Given the description of an element on the screen output the (x, y) to click on. 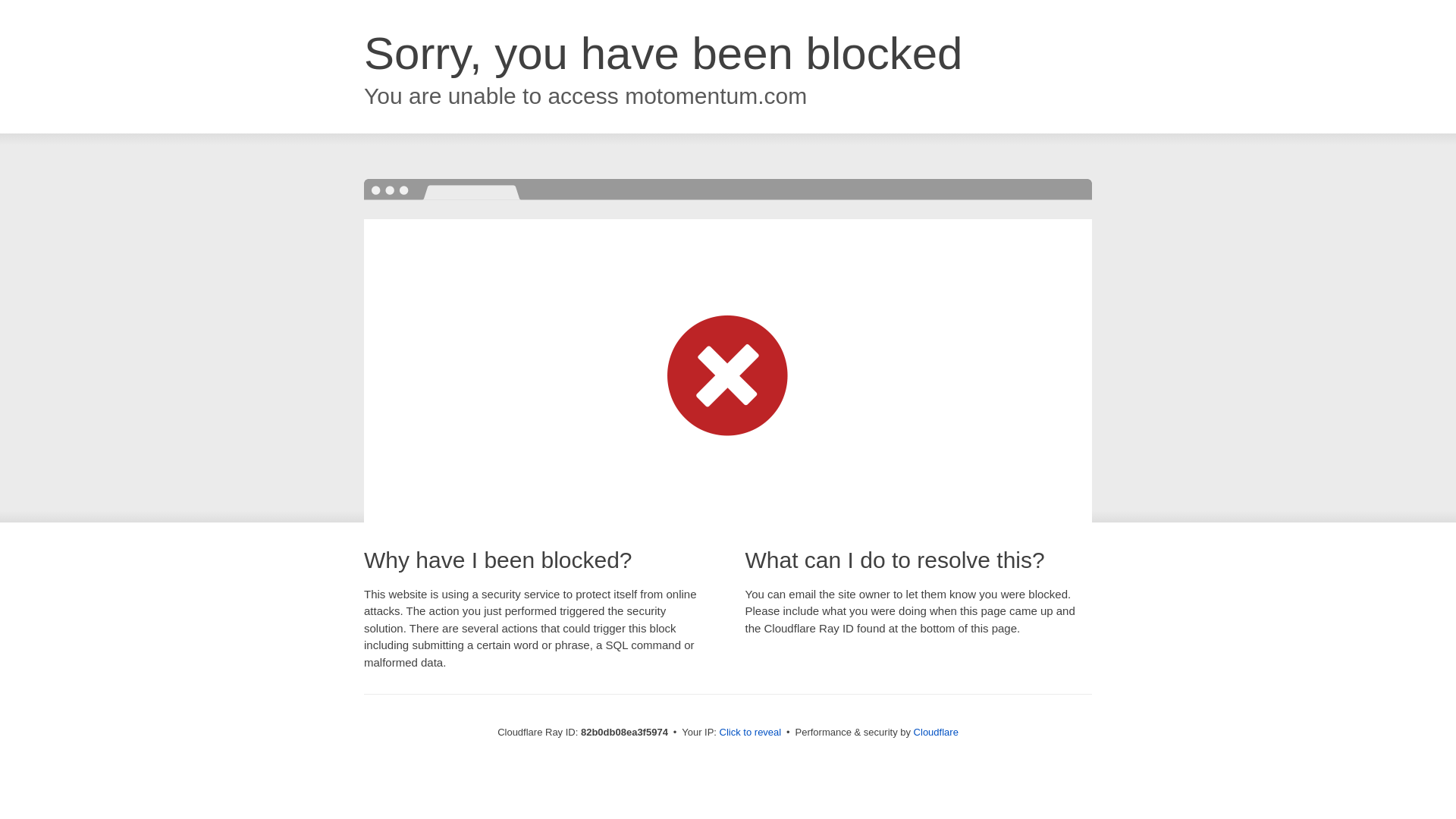
Cloudflare Element type: text (935, 731)
Click to reveal Element type: text (750, 732)
